Given the description of an element on the screen output the (x, y) to click on. 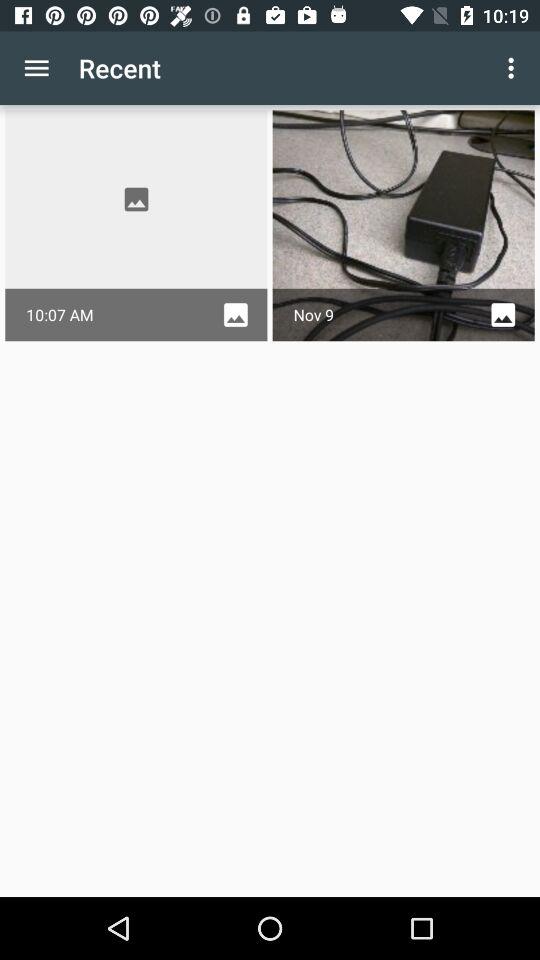
launch the app to the right of recent item (513, 67)
